Given the description of an element on the screen output the (x, y) to click on. 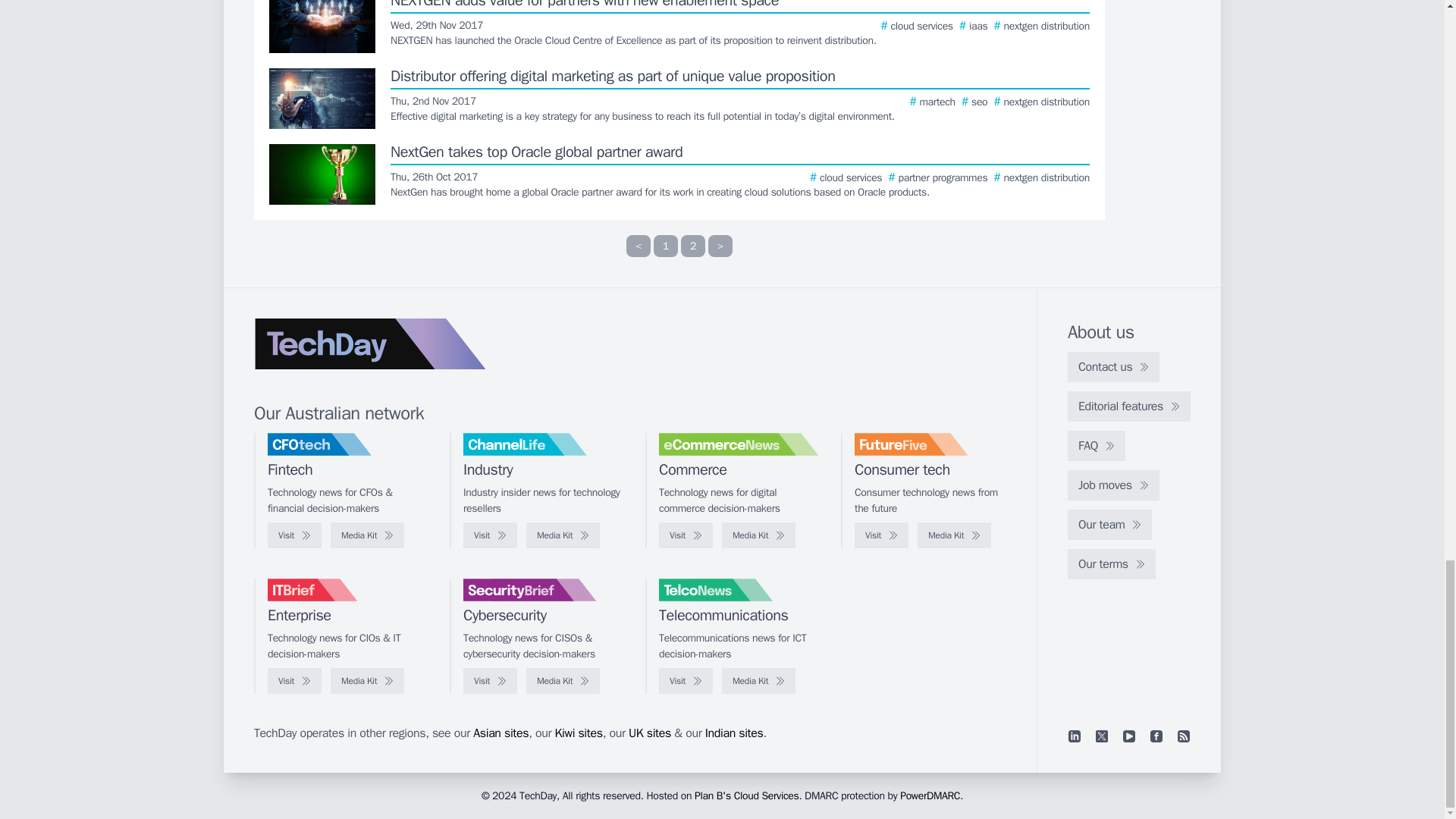
Media Kit (562, 534)
1 (665, 246)
Media Kit (758, 534)
Visit (294, 534)
Visit (686, 534)
2 (692, 246)
Media Kit (367, 534)
Visit (489, 534)
